Given the description of an element on the screen output the (x, y) to click on. 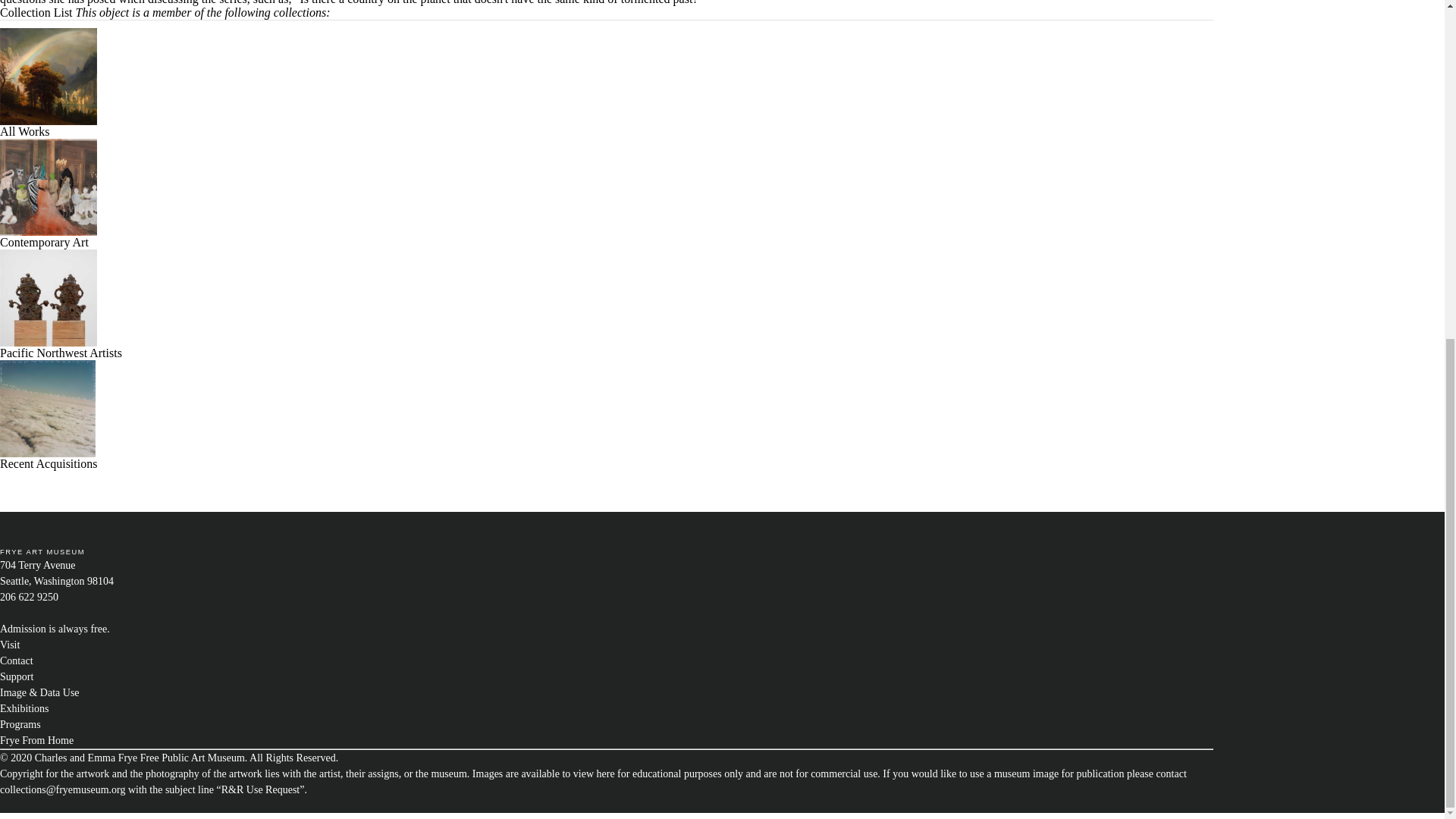
Programs (20, 724)
All Works (48, 126)
Pacific Northwest Artists (61, 347)
Frye From Home (37, 740)
Contemporary Art (48, 236)
Recent Acquisitions (48, 458)
Exhibitions (24, 708)
Visit (10, 644)
Support (16, 676)
Contact (16, 660)
